Given the description of an element on the screen output the (x, y) to click on. 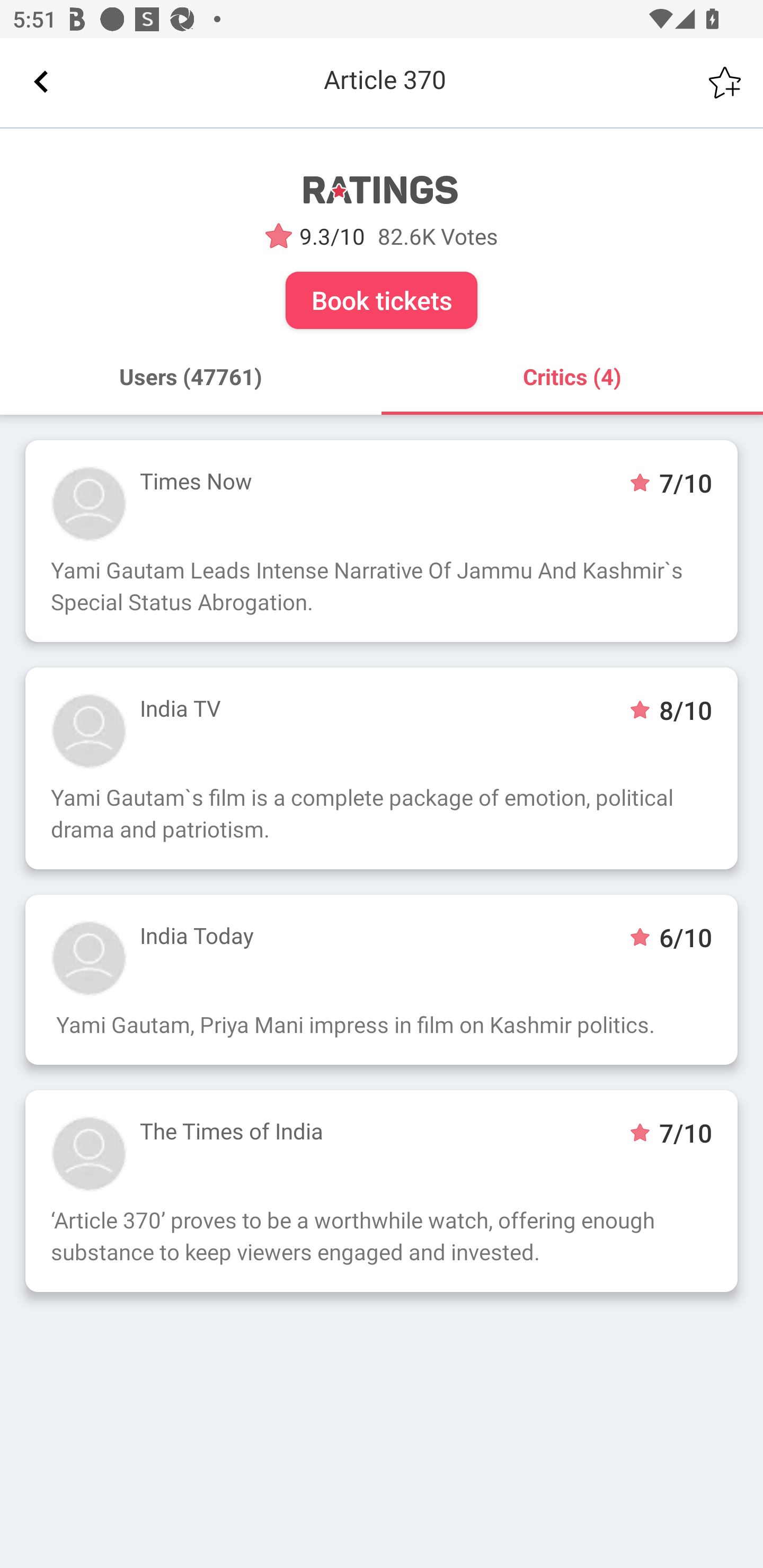
Back (41, 82)
Book tickets (381, 299)
Users (47761) (190, 376)
